Given the description of an element on the screen output the (x, y) to click on. 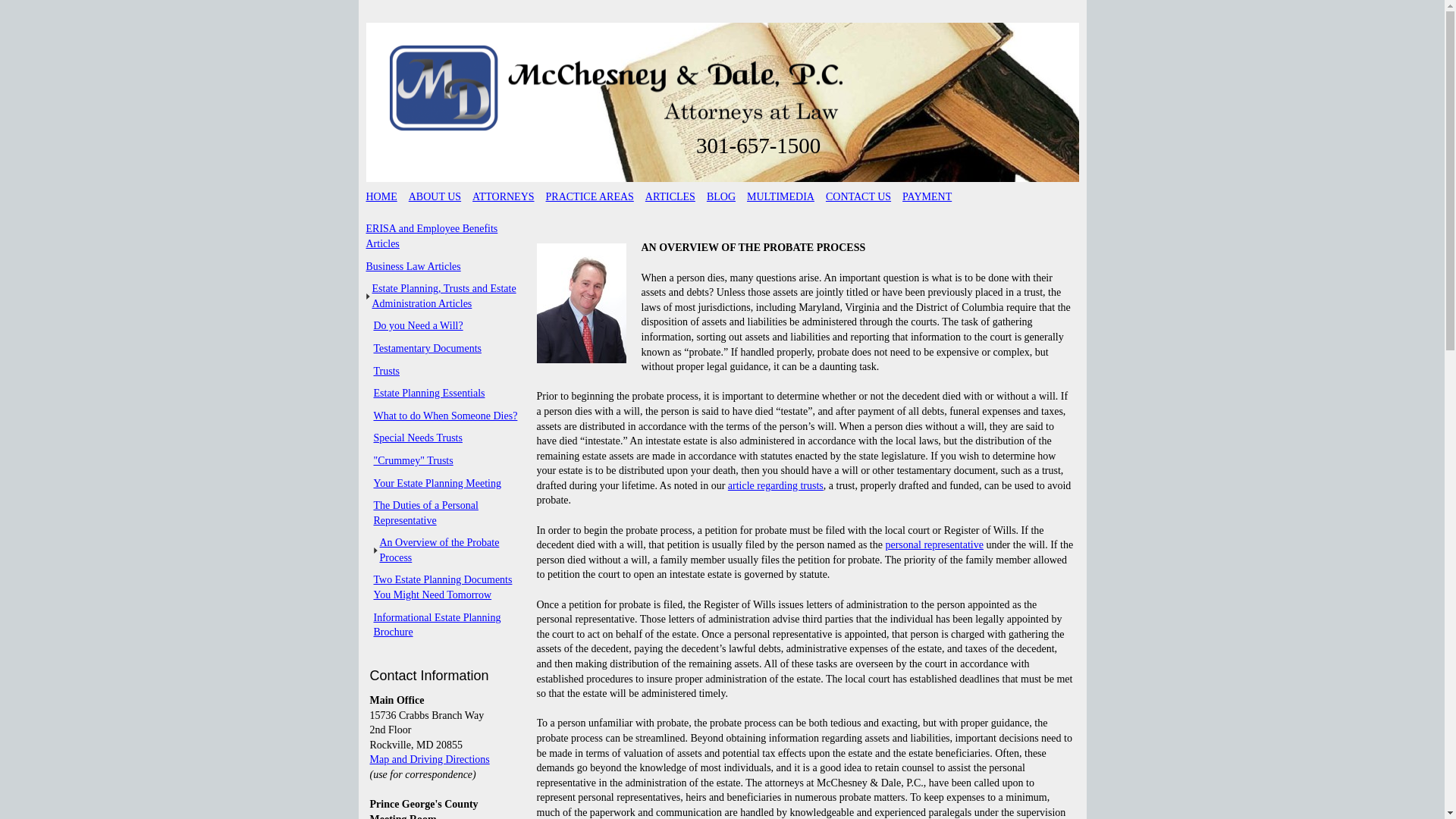
CONTACT US (858, 196)
MULTIMEDIA (779, 196)
ARTICLES (670, 196)
Special Needs Trusts (444, 437)
article regarding trusts (776, 485)
301-657-1500 (758, 144)
personal representative (933, 544)
ERISA and Employee Benefits Articles (440, 235)
Estate Planning, Trusts and Estate Administration Articles (443, 296)
Two Estate Planning Documents You Might Need Tomorrow (444, 586)
Estate Planning Essentials (444, 393)
Do you Need a Will? (444, 325)
Informational Estate Planning Brochure (444, 624)
An Overview of the Probate Process (448, 550)
HOME (380, 196)
